Given the description of an element on the screen output the (x, y) to click on. 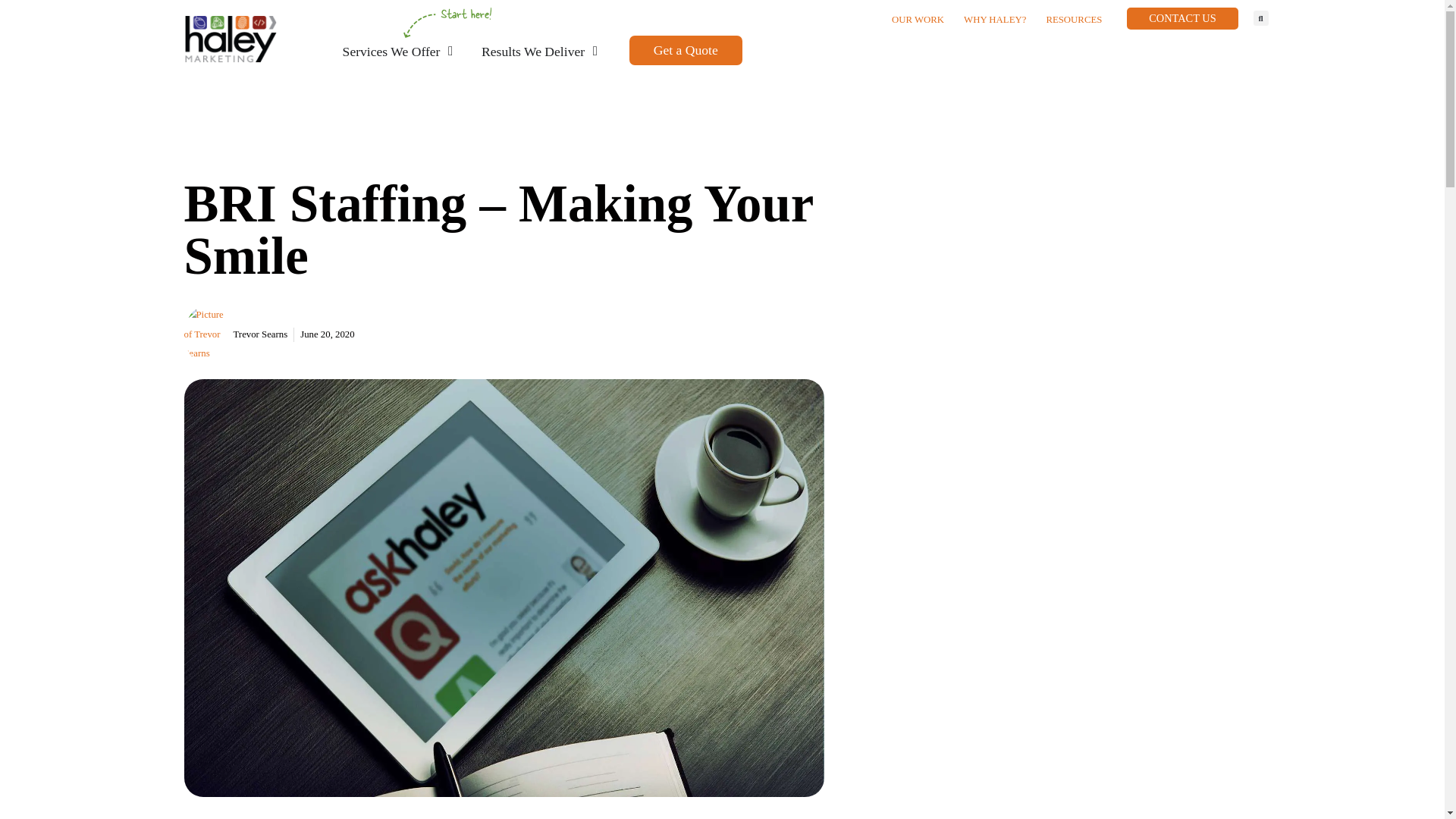
CONTACT US (1181, 18)
RESOURCES (1073, 19)
WHY HALEY? (994, 19)
start-here-2 (447, 22)
OUR WORK (917, 19)
